Given the description of an element on the screen output the (x, y) to click on. 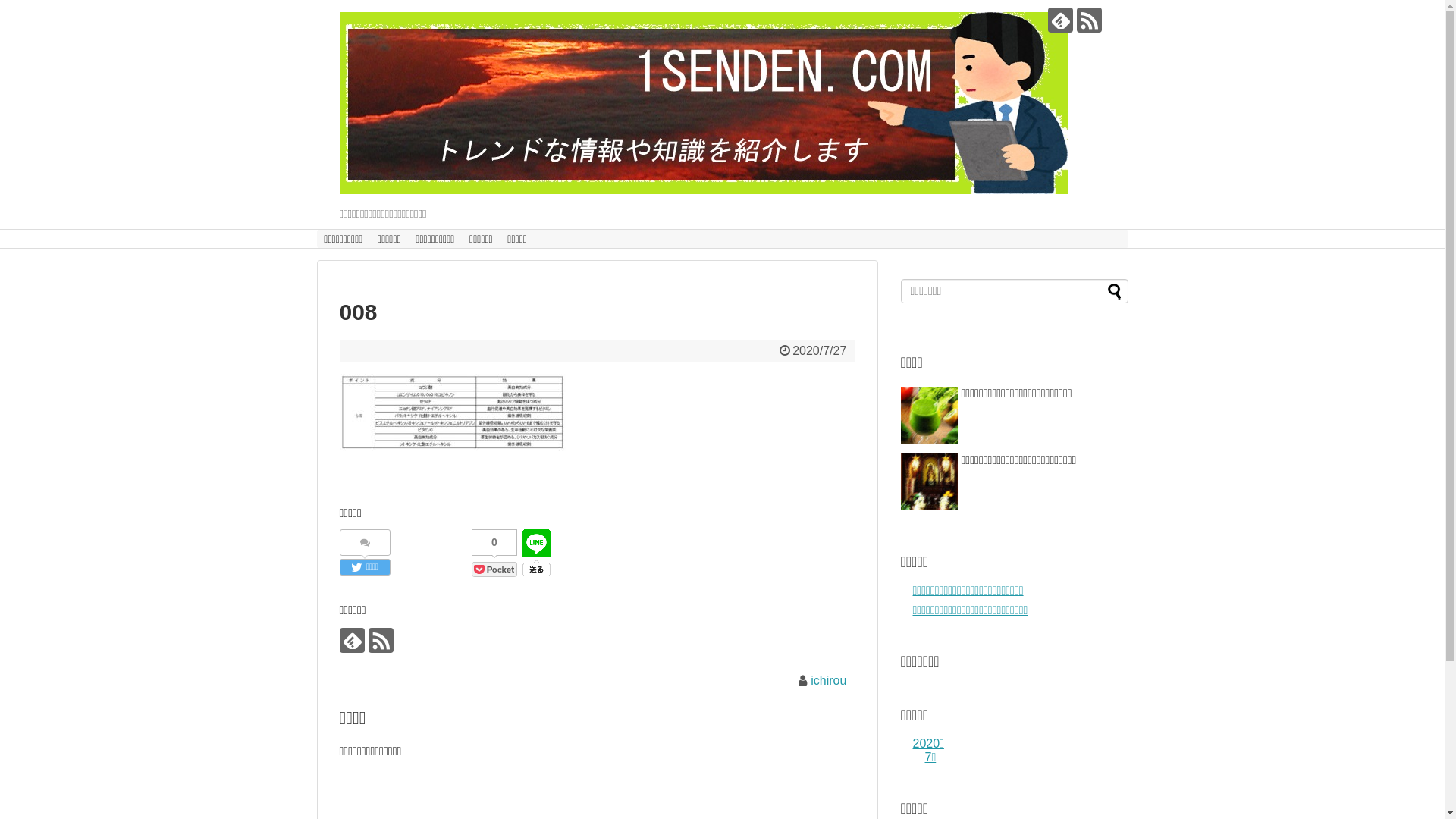
ichirou Element type: text (828, 680)
